Given the description of an element on the screen output the (x, y) to click on. 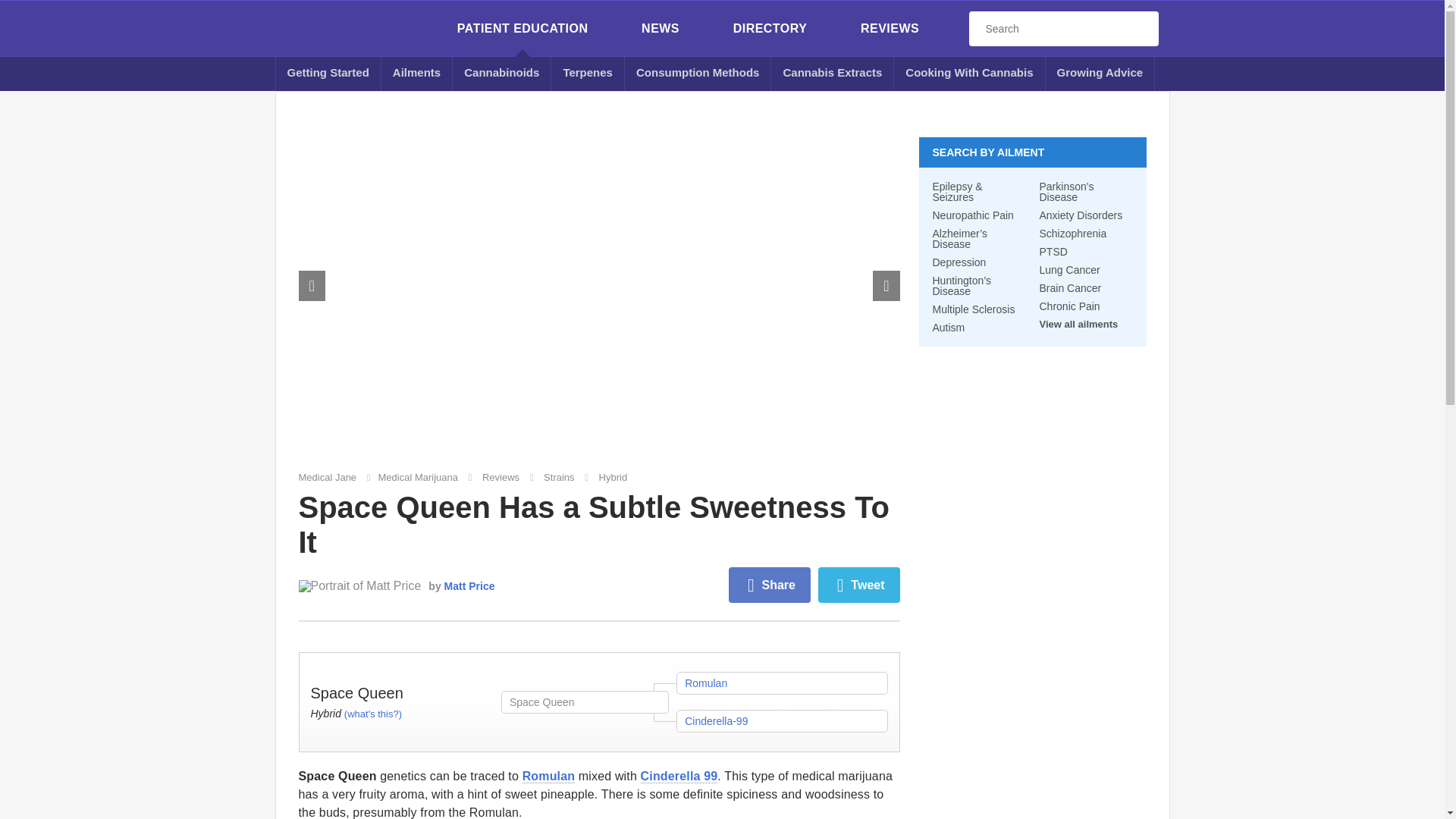
Cannabinoids (501, 73)
DIRECTORY (770, 28)
Getting Started (327, 73)
Cinderella-99: Princess Meets Jack Herer (678, 775)
REVIEWS (889, 28)
PATIENT EDUCATION (522, 28)
Cannabis Extracts (832, 73)
Terpenes (587, 73)
Consumption Methods (697, 73)
Matt Price (360, 585)
